Given the description of an element on the screen output the (x, y) to click on. 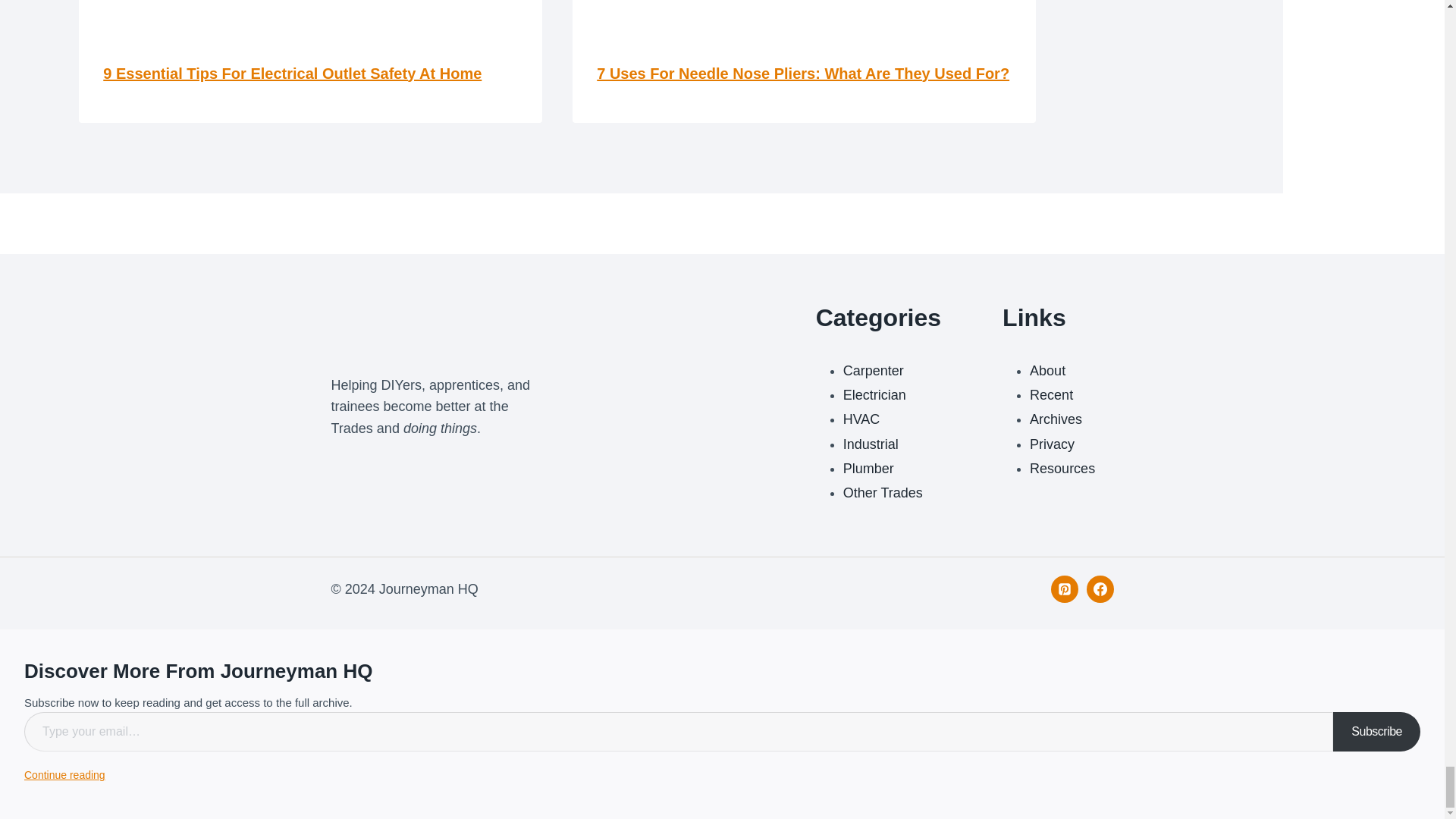
Please fill in this field. (678, 731)
